Given the description of an element on the screen output the (x, y) to click on. 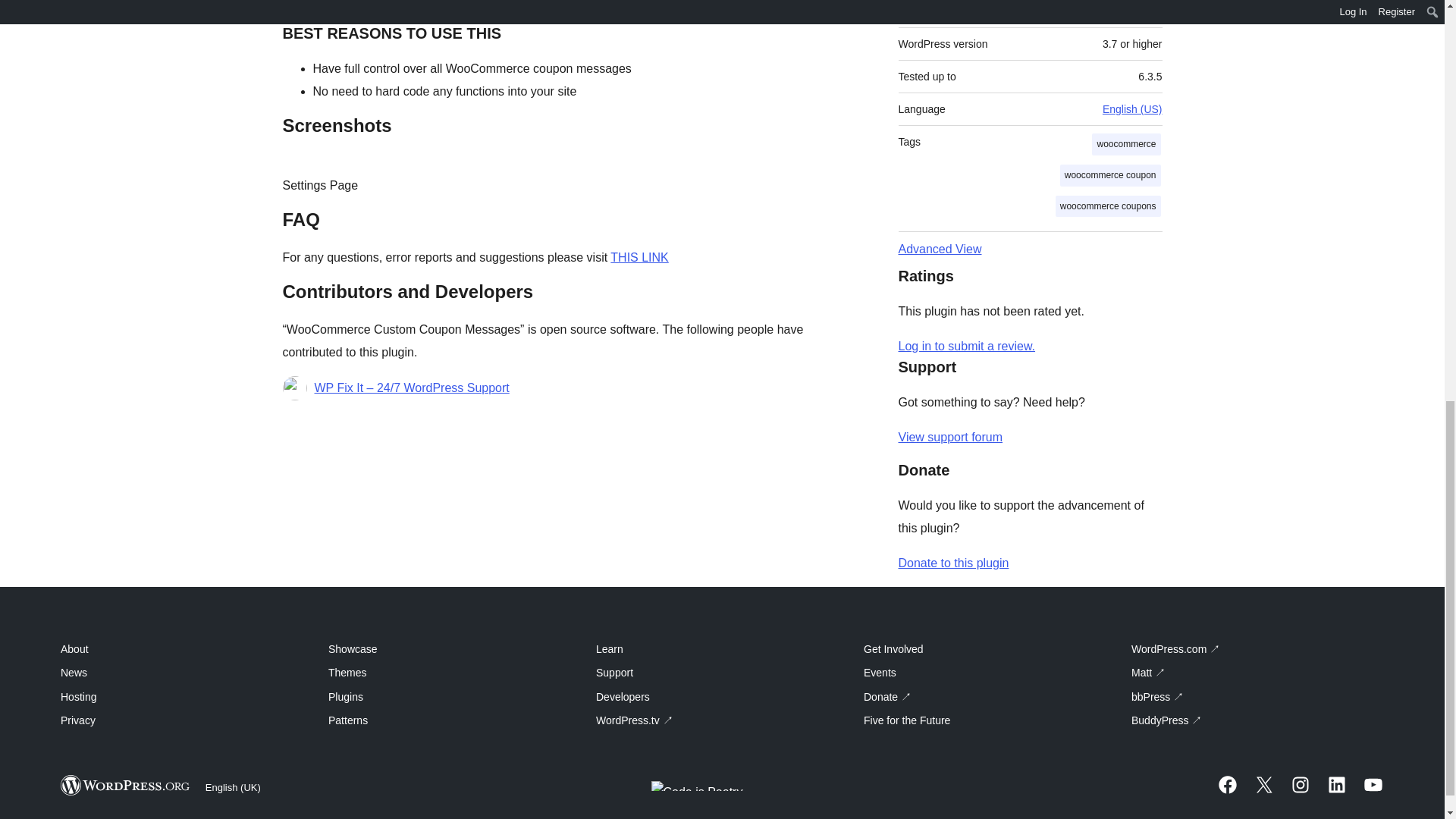
Log in to WordPress.org (966, 345)
THIS LINK (639, 256)
WordPress.org (125, 784)
